Given the description of an element on the screen output the (x, y) to click on. 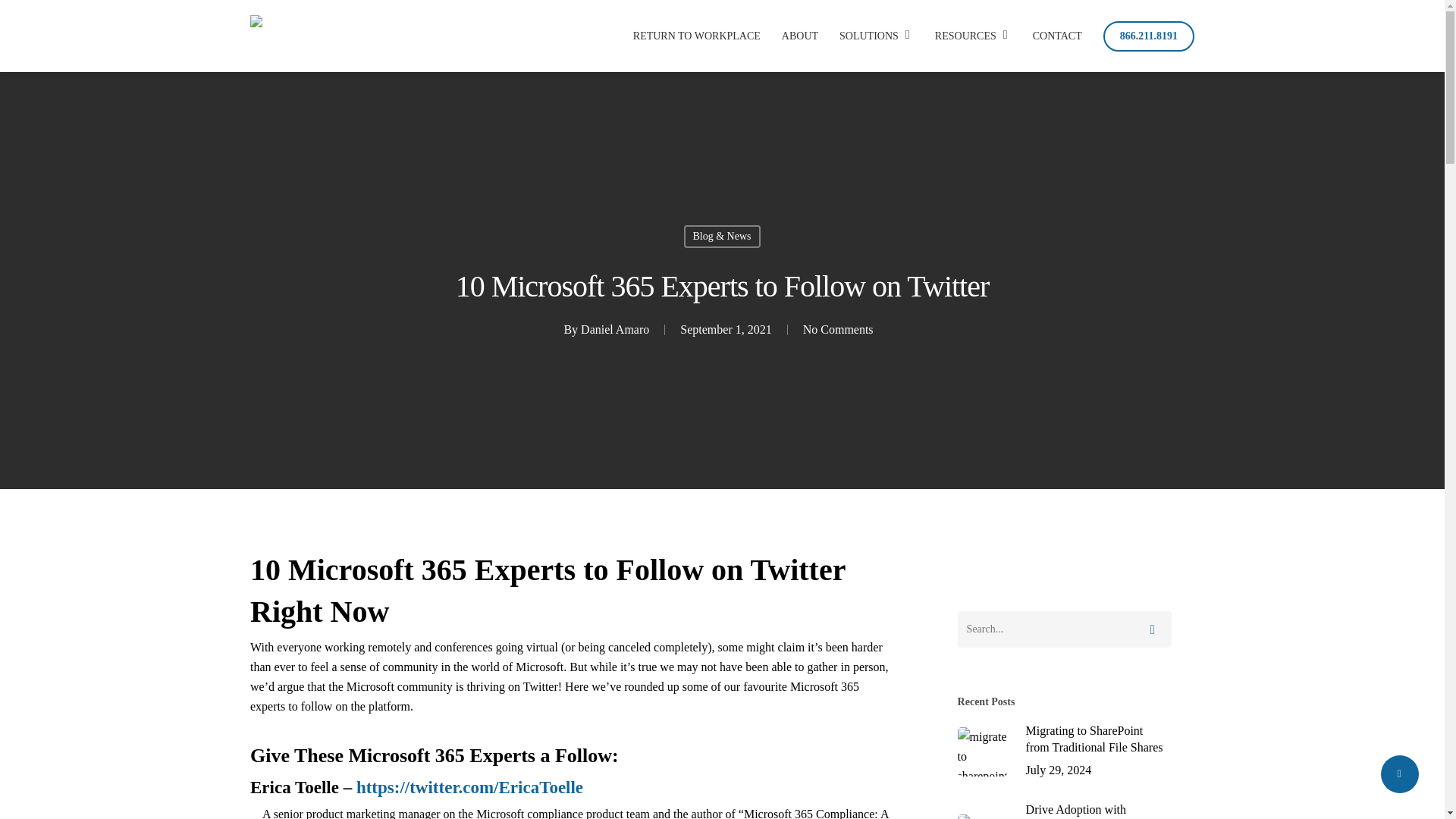
SOLUTIONS (877, 36)
866.211.8191 (1148, 36)
RESOURCES (972, 36)
CONTACT (1056, 36)
ABOUT (799, 36)
No Comments (838, 328)
Posts by Daniel Amaro (614, 328)
Search for: (1065, 628)
Daniel Amaro (614, 328)
RETURN TO WORKPLACE (696, 36)
